Given the description of an element on the screen output the (x, y) to click on. 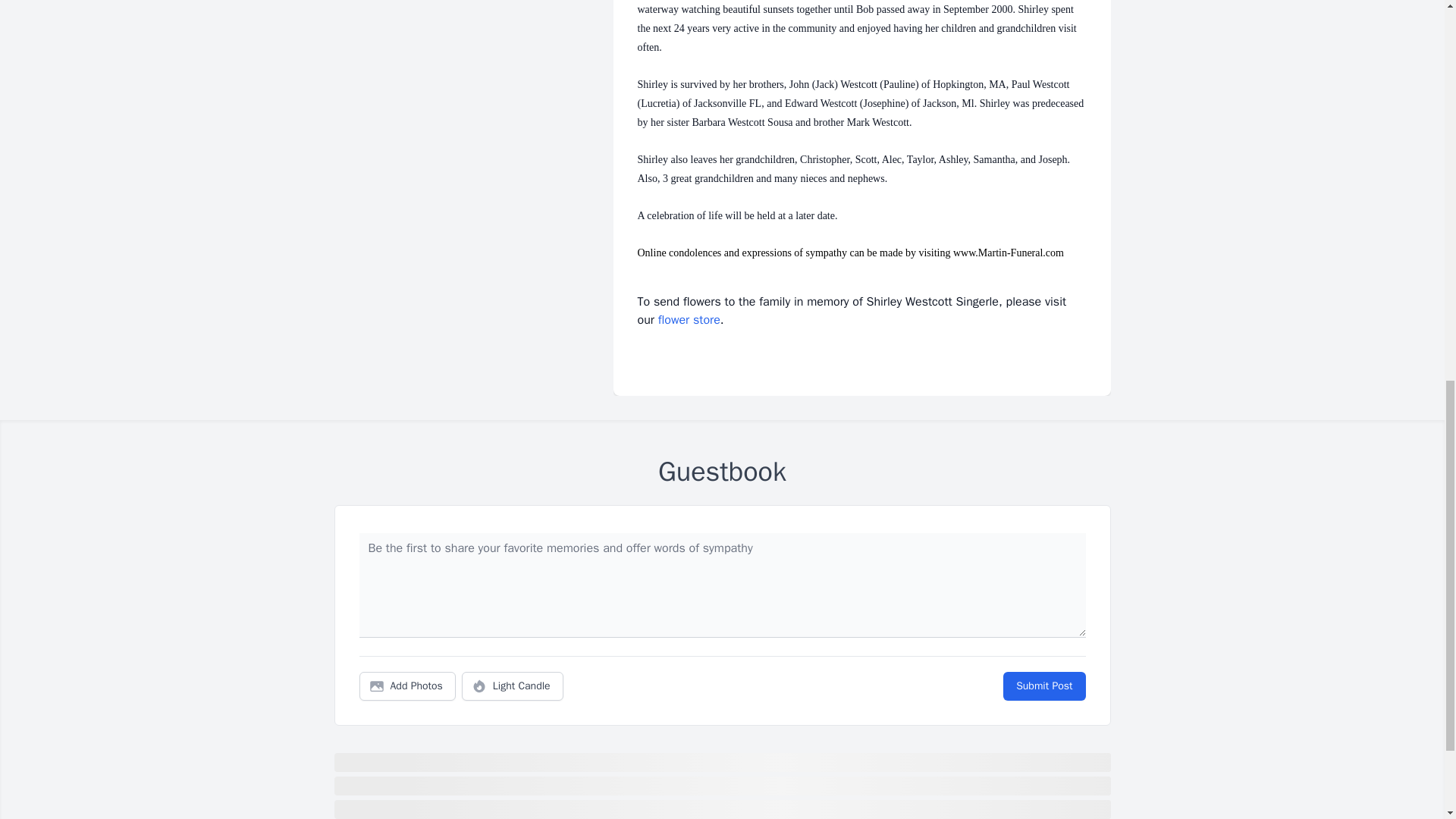
Light Candle (512, 686)
Submit Post (1043, 686)
Add Photos (407, 686)
flower store (689, 319)
